Given the description of an element on the screen output the (x, y) to click on. 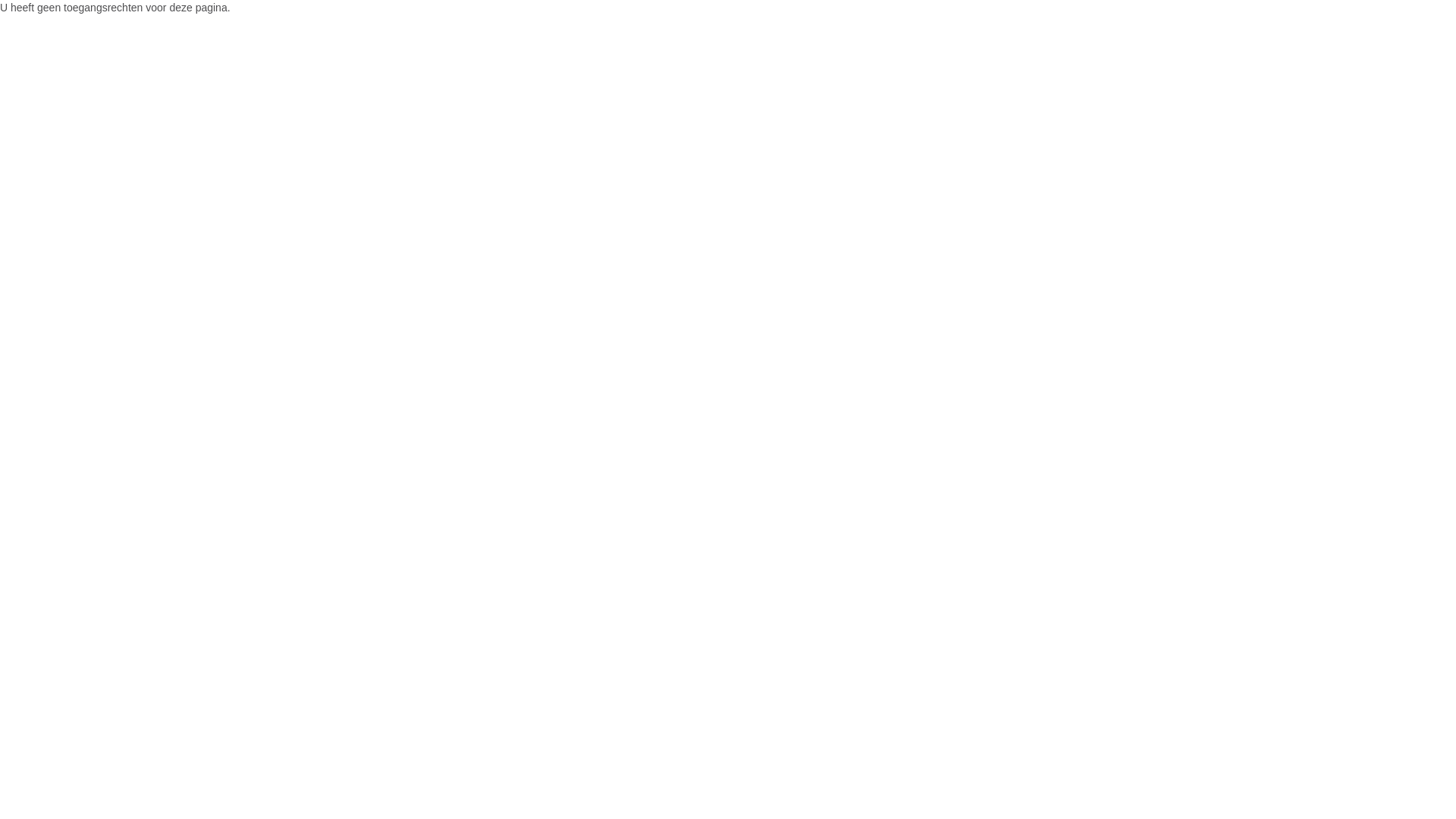
Overslaan en naar de inhoud gaan Element type: text (81, 0)
